Given the description of an element on the screen output the (x, y) to click on. 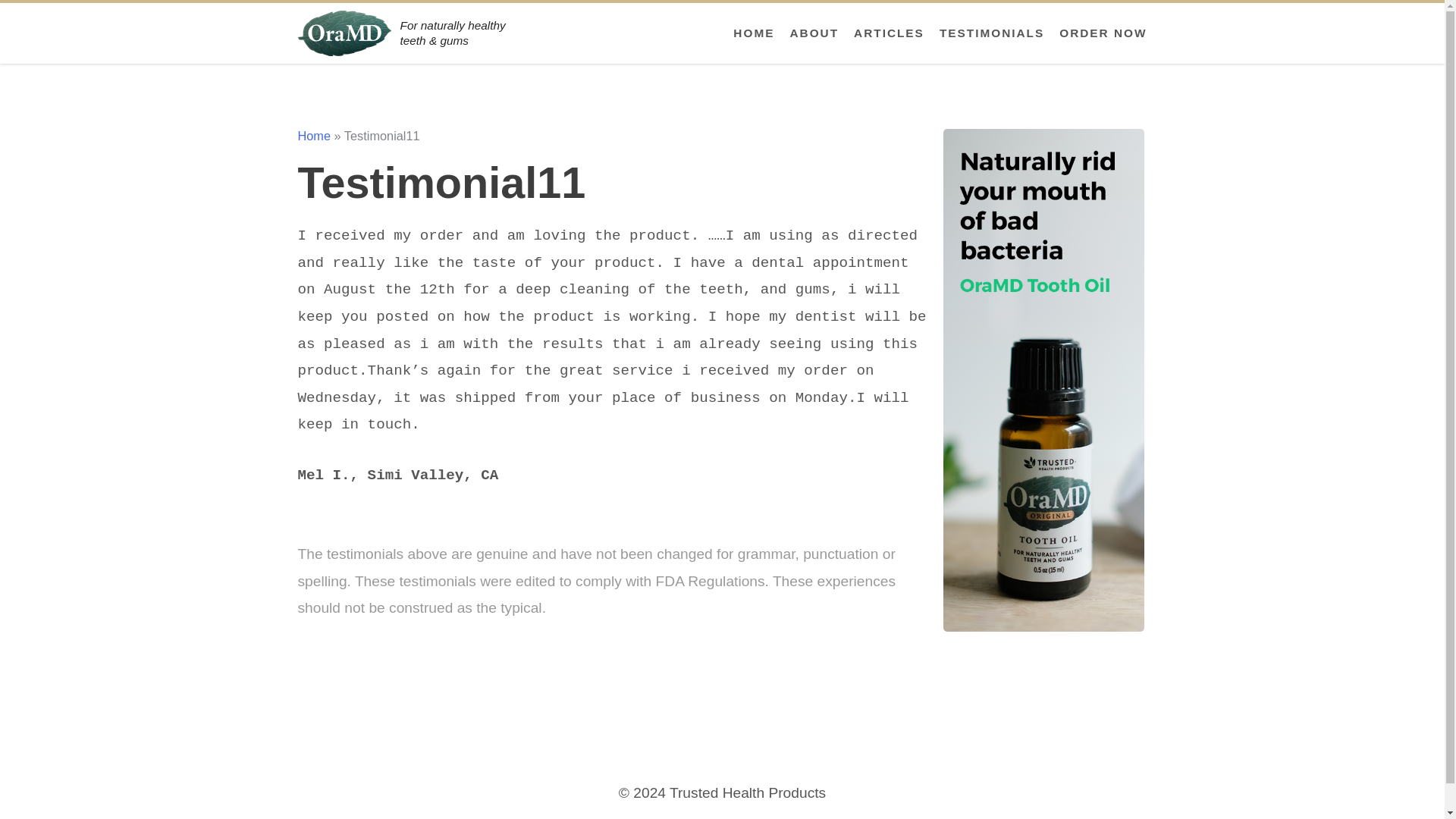
HOME (753, 33)
ABOUT (813, 33)
TESTIMONIALS (991, 33)
ARTICLES (888, 33)
ORDER NOW (1103, 33)
